Given the description of an element on the screen output the (x, y) to click on. 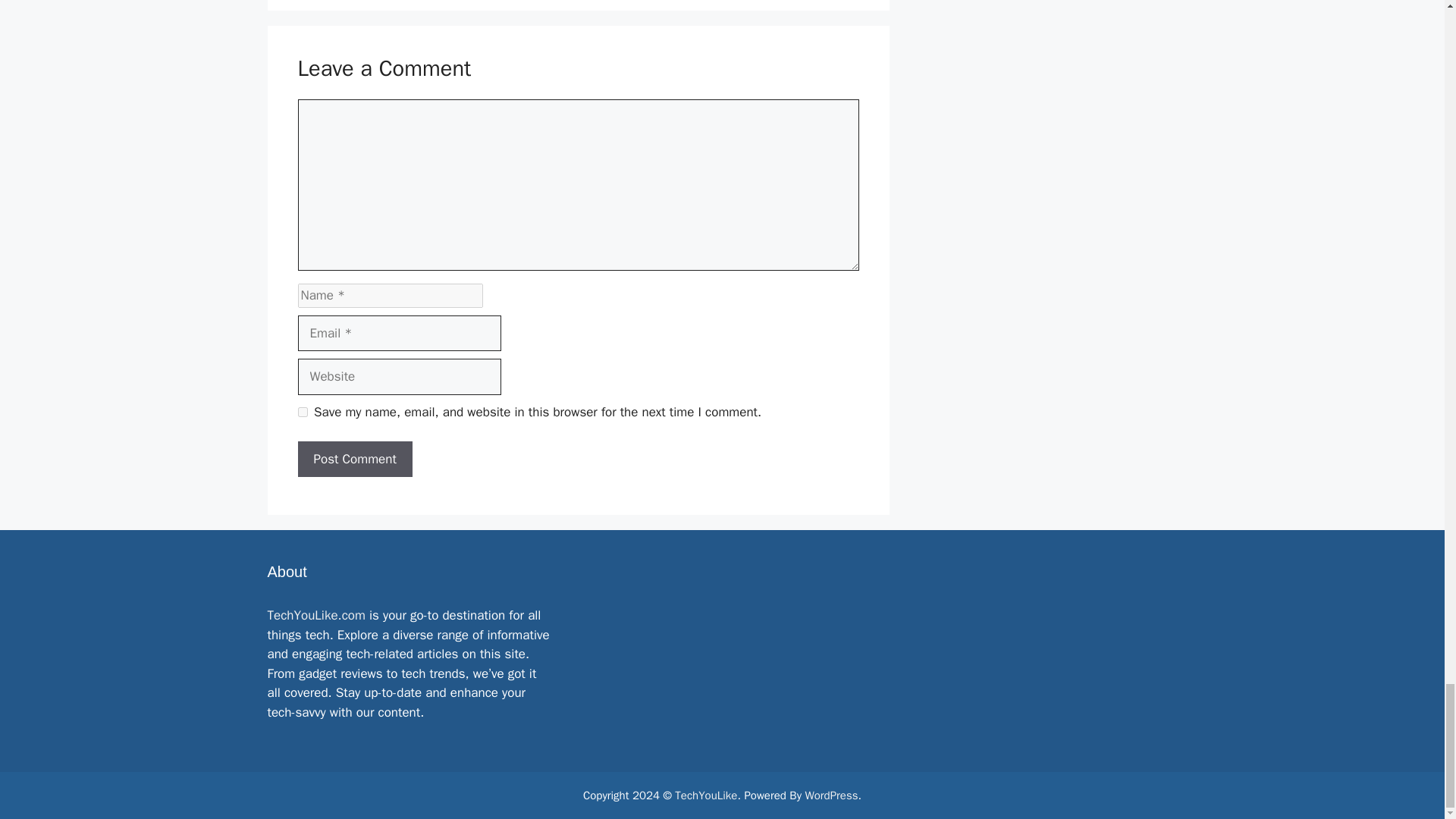
TechYouLike (705, 795)
WordPress (831, 795)
yes (302, 411)
Post Comment (354, 459)
Post Comment (354, 459)
TechYouLike.com (315, 615)
